Given the description of an element on the screen output the (x, y) to click on. 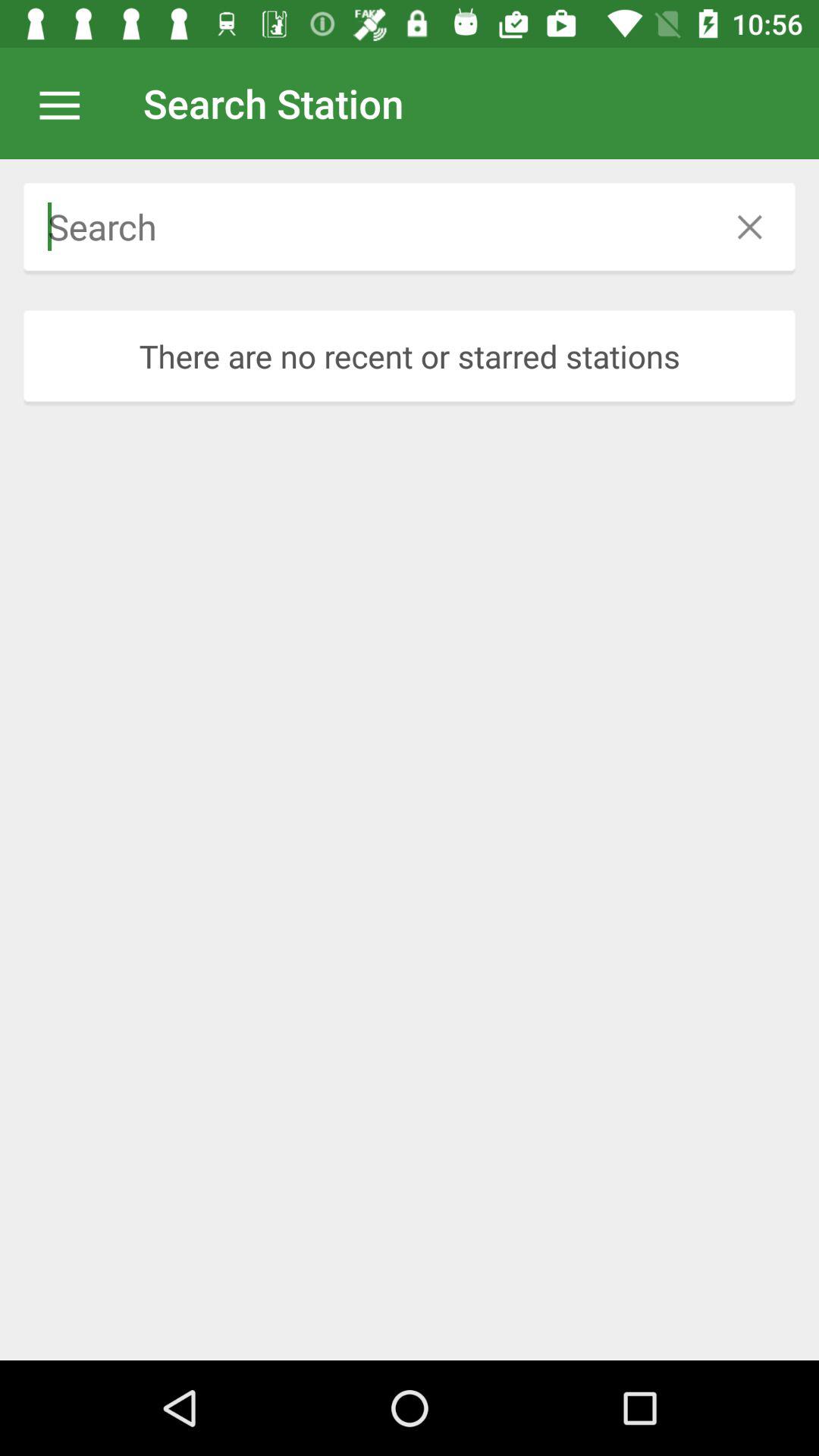
turn on item at the top left corner (67, 103)
